Given the description of an element on the screen output the (x, y) to click on. 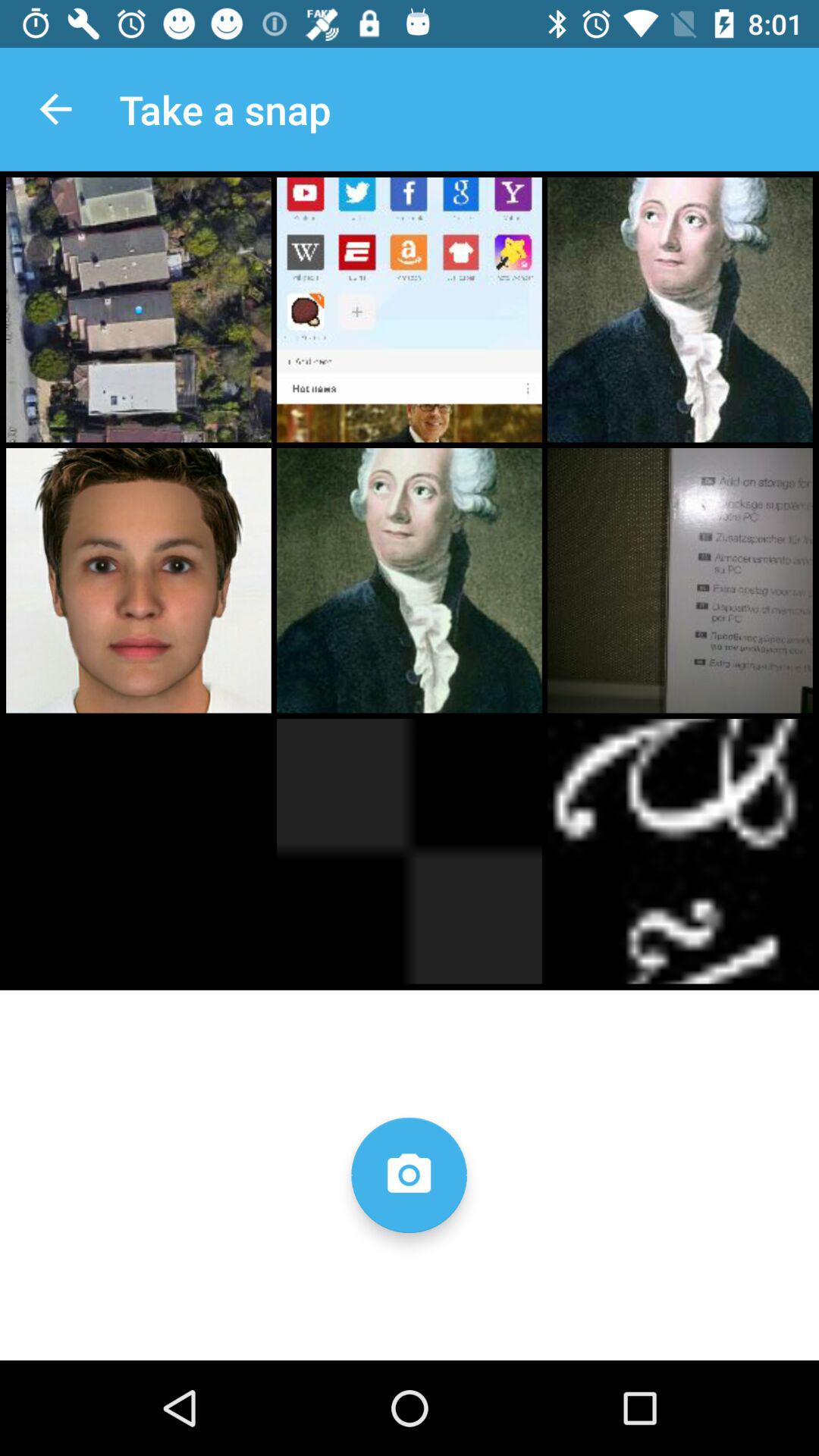
open camera (408, 1175)
